Given the description of an element on the screen output the (x, y) to click on. 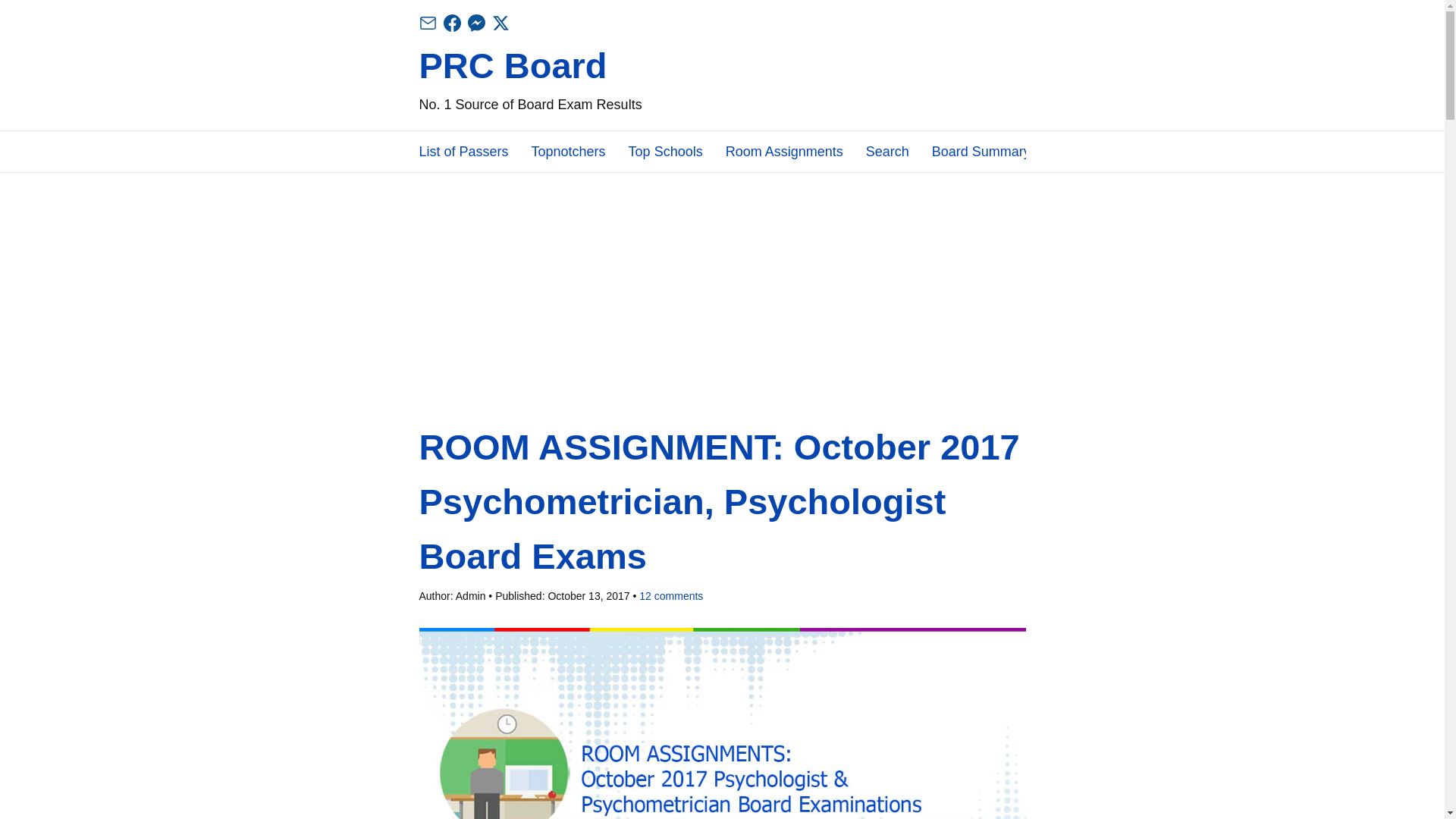
Topnotchers (568, 151)
12 comments (667, 595)
Top Schools (665, 151)
PRC Board (513, 65)
Room Assignments (784, 151)
Board Summary (980, 151)
2017-10-13 (587, 595)
Search (887, 151)
List of Passers (463, 151)
Advertisement (722, 307)
